Given the description of an element on the screen output the (x, y) to click on. 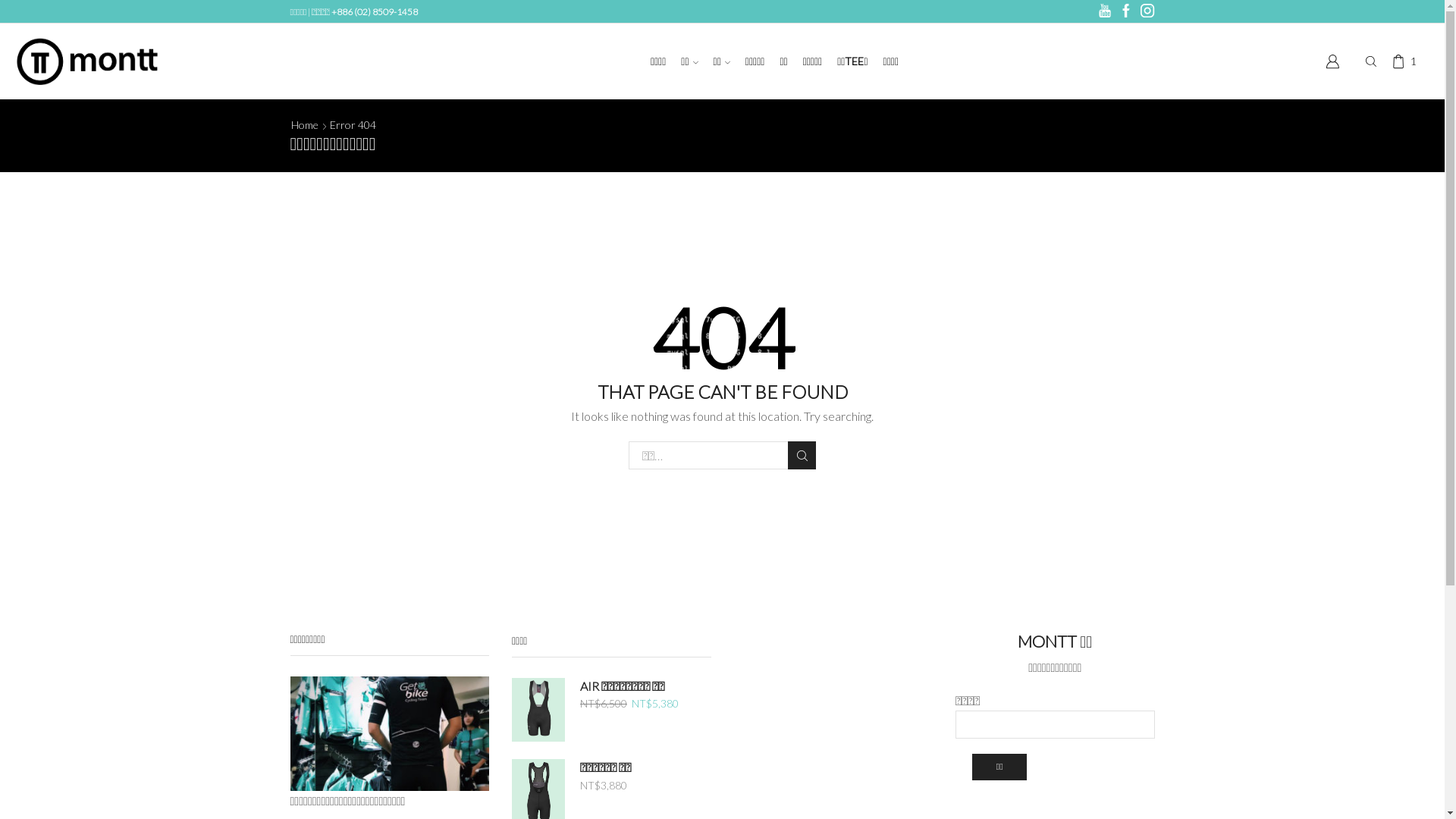
Instagram Element type: hover (1147, 10)
Facebook Element type: hover (1125, 10)
youtube Element type: hover (1104, 10)
+886 (02) 8509-1458 Element type: text (374, 11)
1 Element type: text (1406, 60)
Home Element type: text (303, 124)
